Given the description of an element on the screen output the (x, y) to click on. 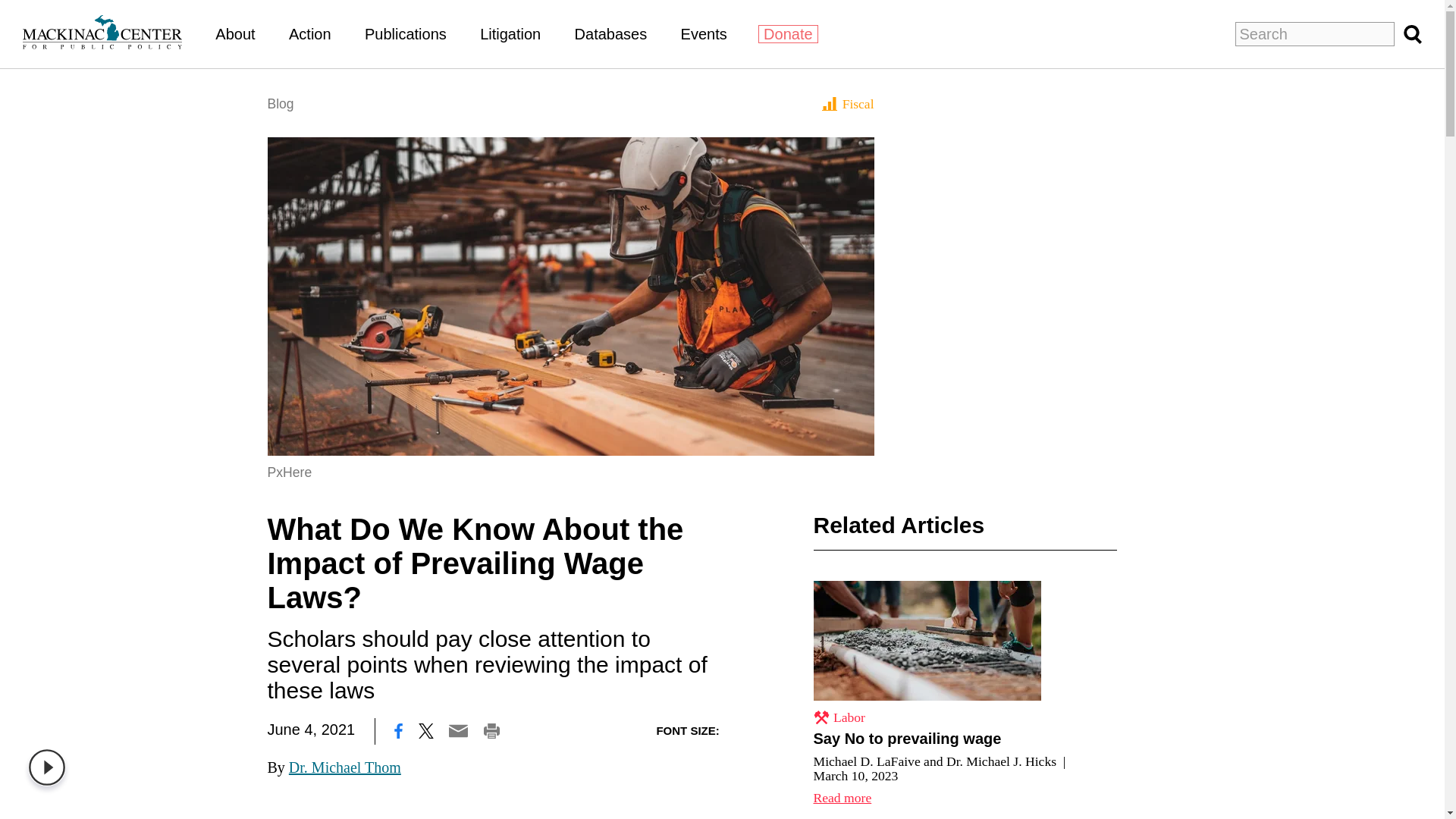
Blog (280, 103)
Publications (405, 33)
Fiscal (847, 103)
Trinity Audio Player (50, 768)
Dr. Michael Thom (344, 767)
Action (309, 33)
Litigation (510, 33)
Events (703, 33)
Donate (788, 34)
About (234, 33)
